Given the description of an element on the screen output the (x, y) to click on. 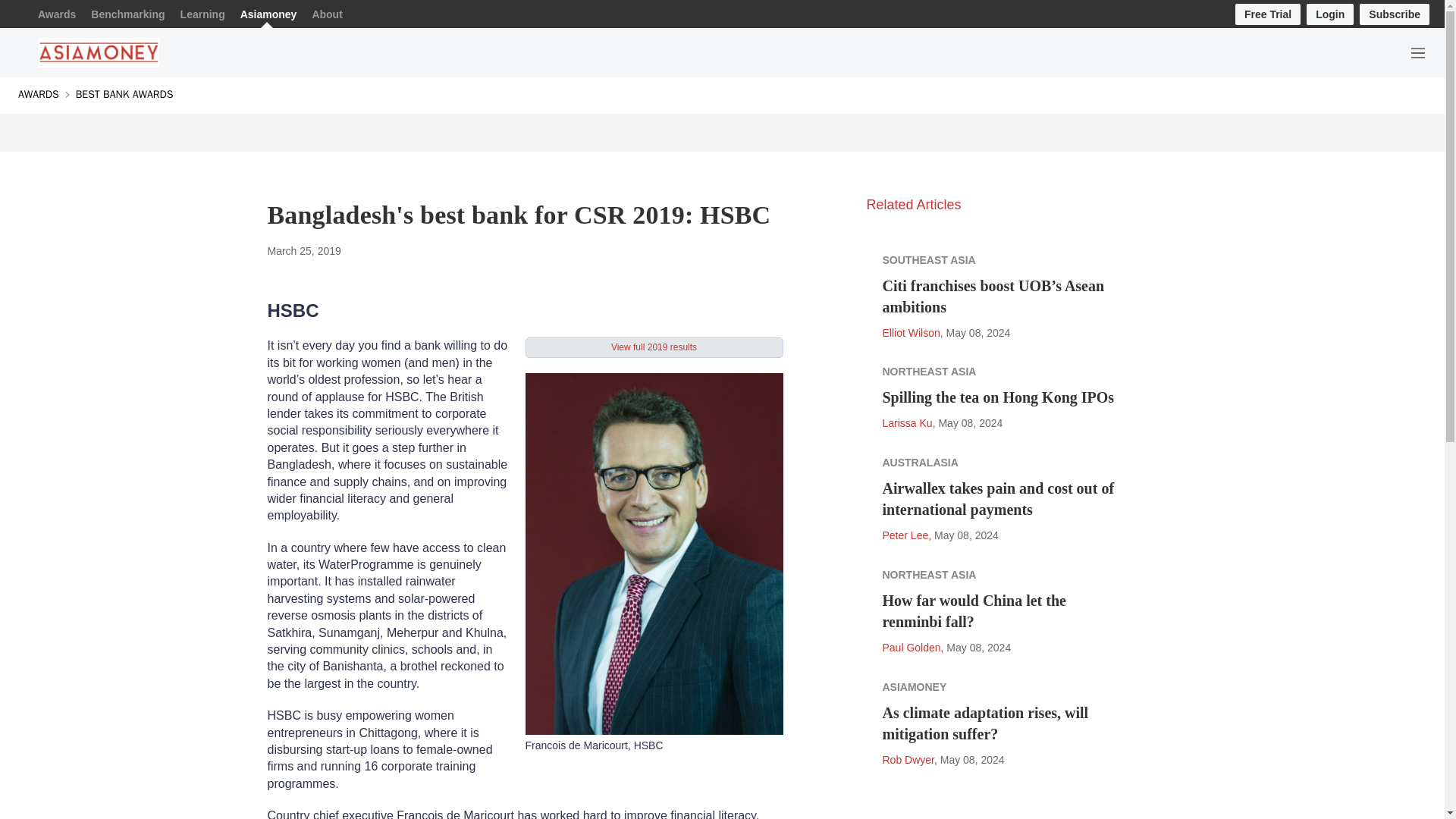
Asiamoney (268, 13)
About (326, 13)
Awards (56, 13)
Benchmarking (127, 13)
Learning (202, 13)
Subscribe (1394, 13)
Free Trial (1267, 13)
Login (1329, 13)
